Given the description of an element on the screen output the (x, y) to click on. 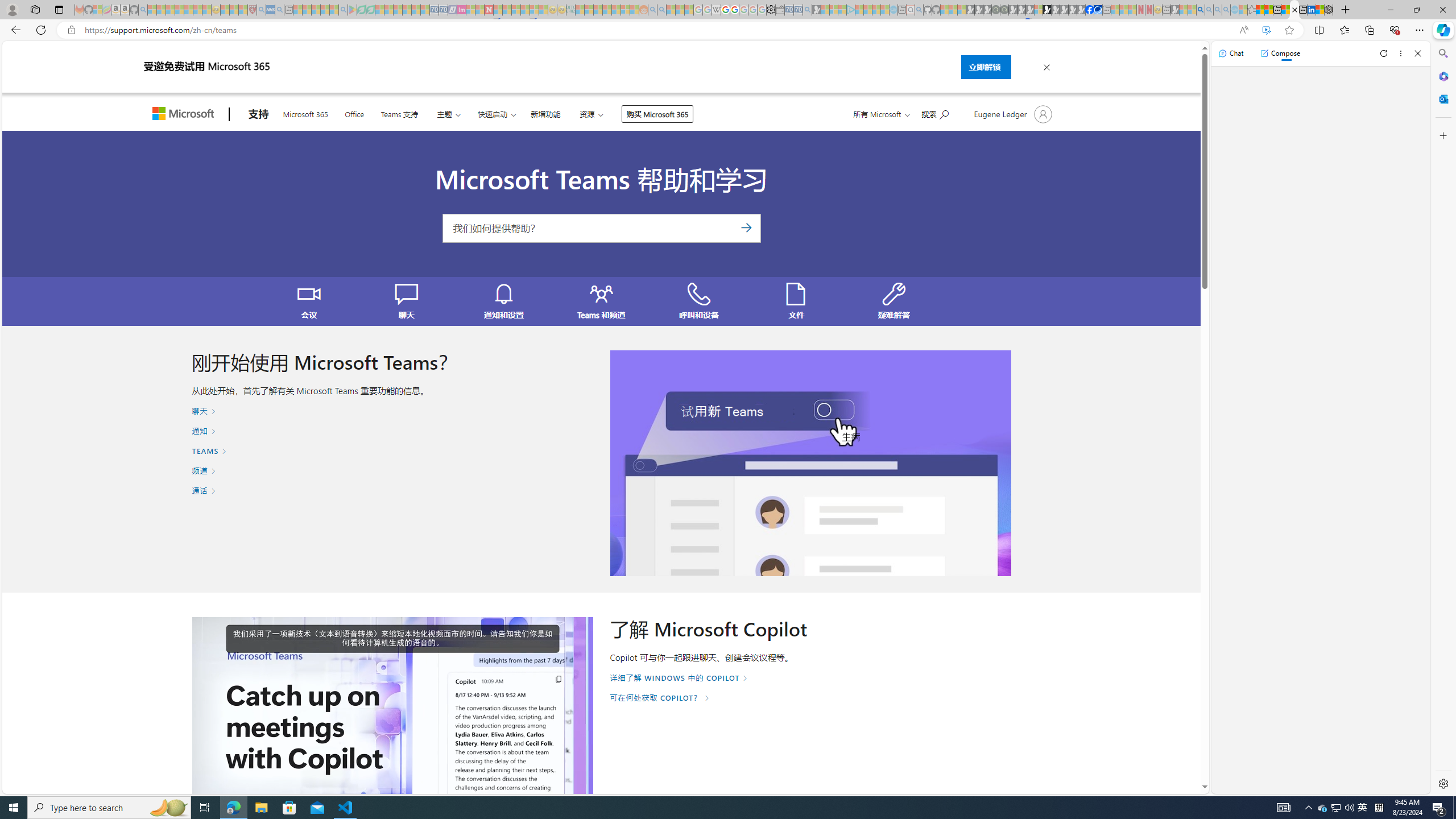
Privacy Help Center - Policies Help (725, 9)
utah sues federal government - Search - Sleeping (279, 9)
Settings (1442, 783)
list of asthma inhalers uk - Search - Sleeping (260, 9)
Close (1417, 53)
Microsoft (184, 114)
Future Focus Report 2024 - Sleeping (1004, 9)
Back (13, 29)
LinkedIn (1311, 9)
